Given the description of an element on the screen output the (x, y) to click on. 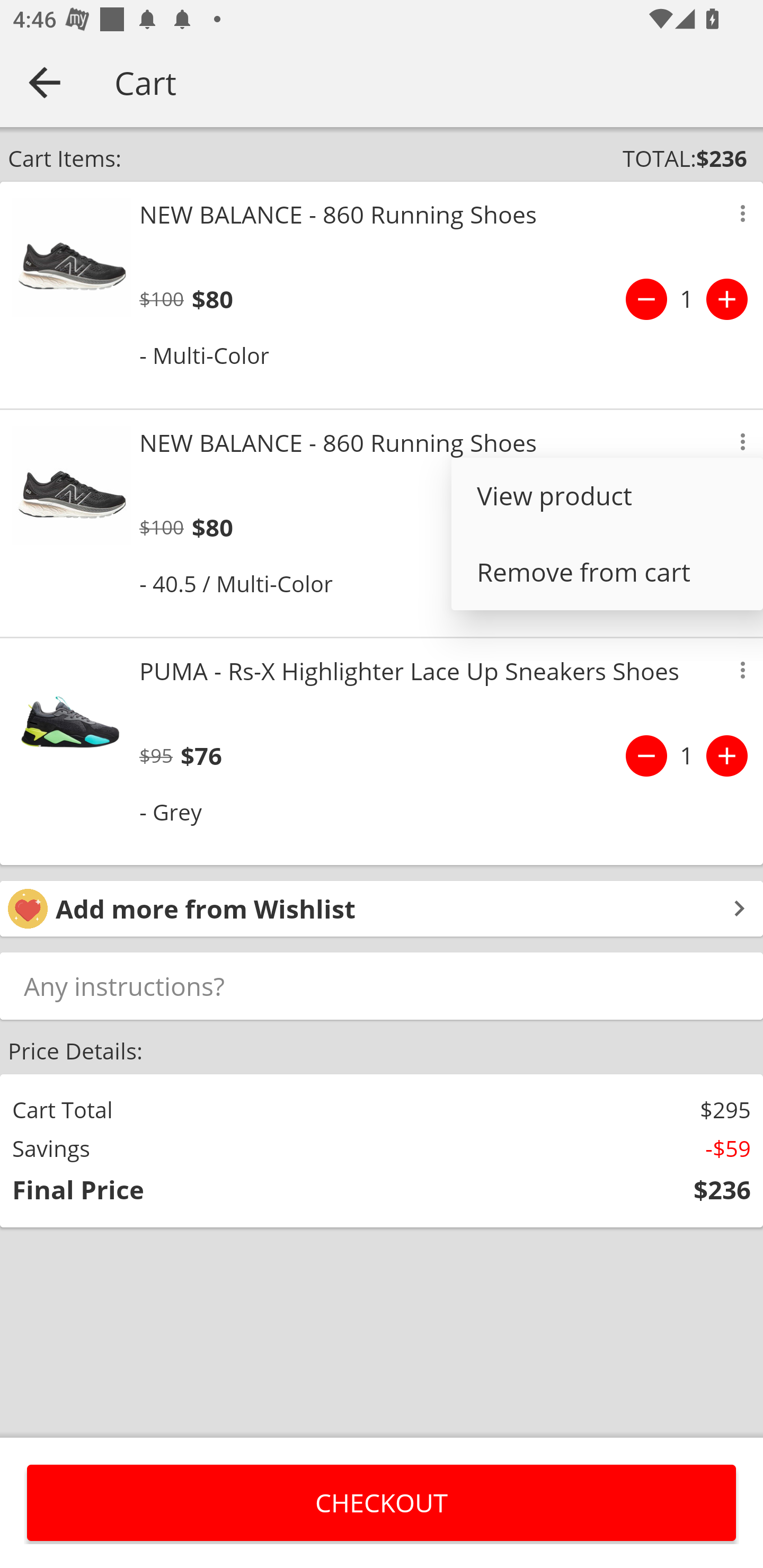
View product (607, 495)
Remove from cart (607, 571)
